Given the description of an element on the screen output the (x, y) to click on. 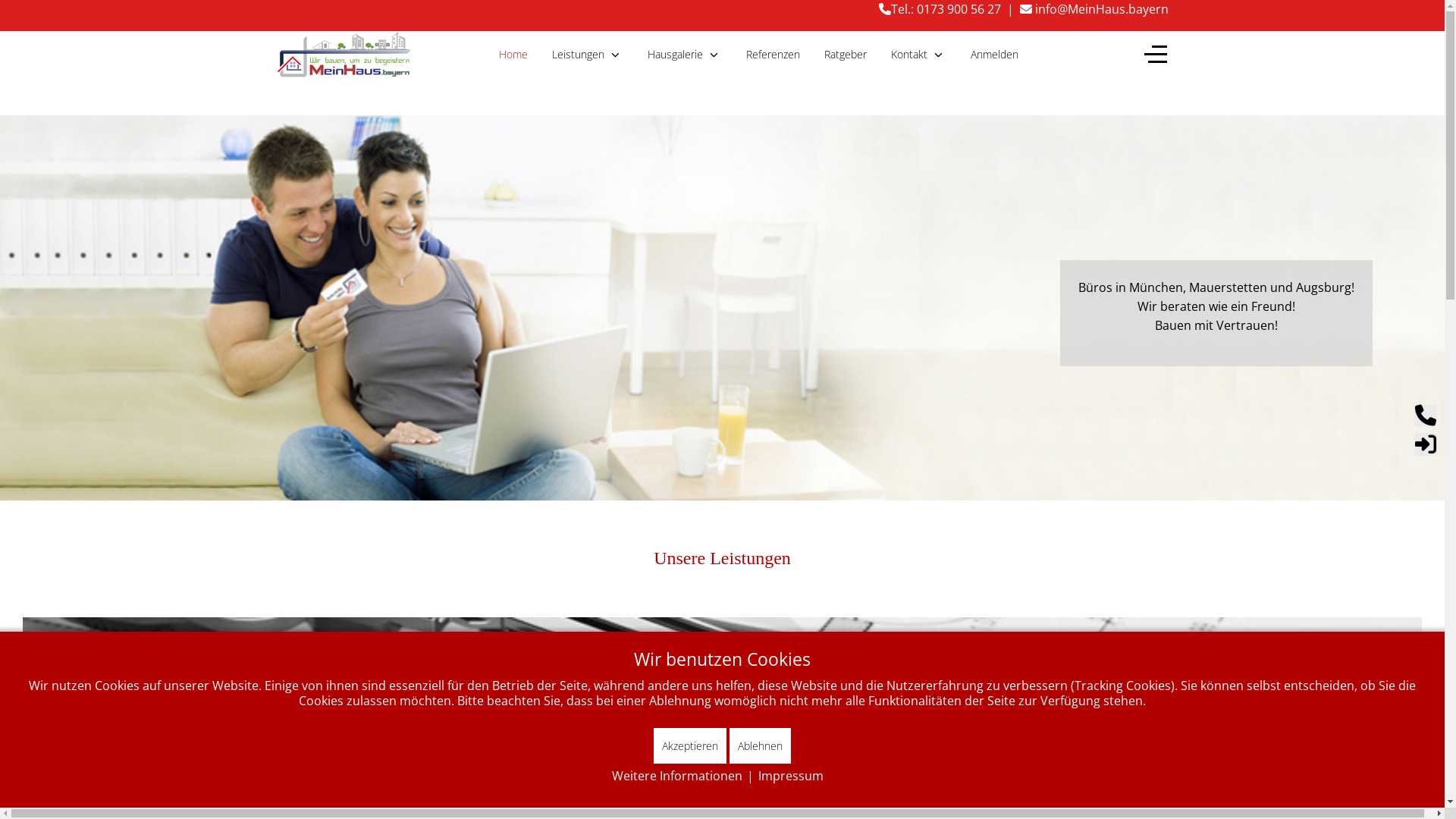
Leistungen Element type: text (587, 54)
Referenzen Element type: text (773, 54)
Anmelden Element type: text (994, 54)
Impressum Element type: text (790, 775)
Home Element type: text (512, 54)
Weitere Informationen Element type: text (676, 775)
Hausgalerie Element type: text (684, 54)
Kontakt Element type: text (917, 54)
Akzeptieren Element type: text (689, 745)
Ratgeber Element type: text (844, 54)
info@MeinHaus.bayern Element type: text (1093, 8)
Ablehnen Element type: text (759, 745)
